Given the description of an element on the screen output the (x, y) to click on. 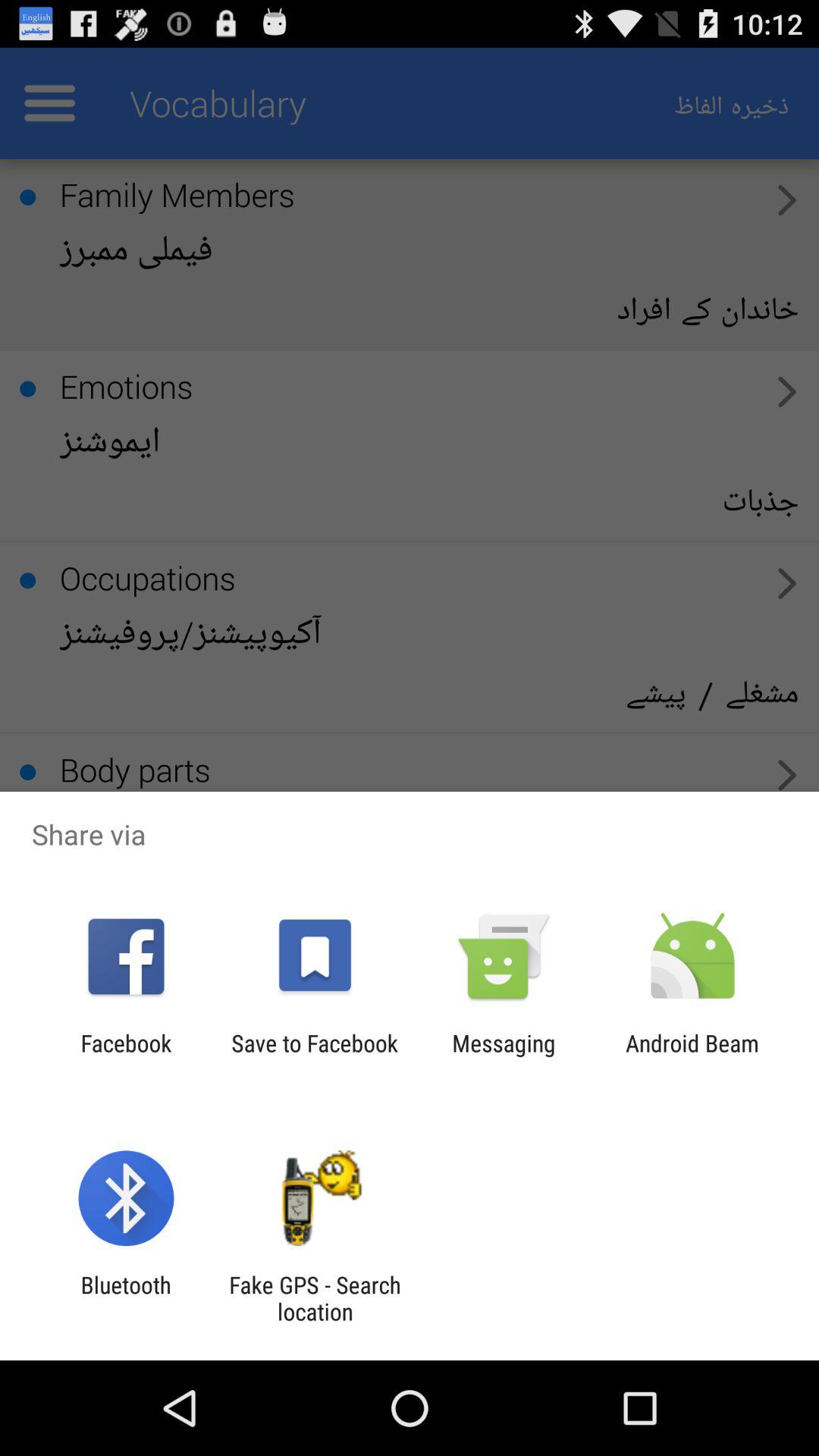
click the icon to the right of the save to facebook (503, 1056)
